Given the description of an element on the screen output the (x, y) to click on. 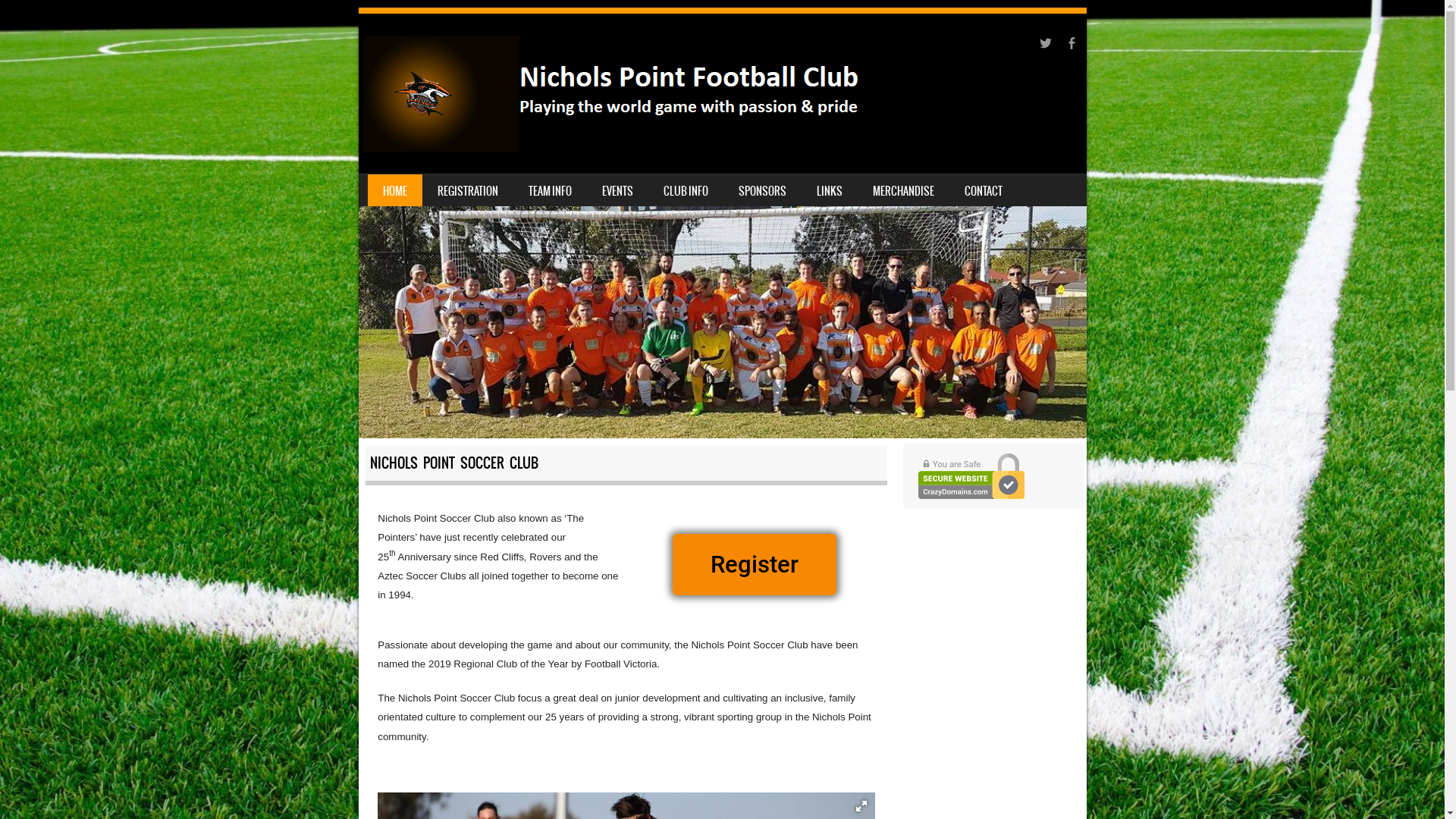
CONTACT Element type: text (983, 190)
HOME Element type: text (394, 190)
Nichols Point Soccer Club Element type: hover (721, 225)
Register Element type: text (754, 564)
CLUB INFO Element type: text (684, 190)
SPONSORS Element type: text (762, 190)
Nichols Point Soccer Club Element type: hover (691, 93)
EVENTS Element type: text (617, 190)
TEAM INFO Element type: text (549, 190)
LINKS Element type: text (828, 190)
REGISTRATION Element type: text (466, 190)
SKIP TO CONTENT Element type: text (393, 183)
MERCHANDISE Element type: text (902, 190)
